Given the description of an element on the screen output the (x, y) to click on. 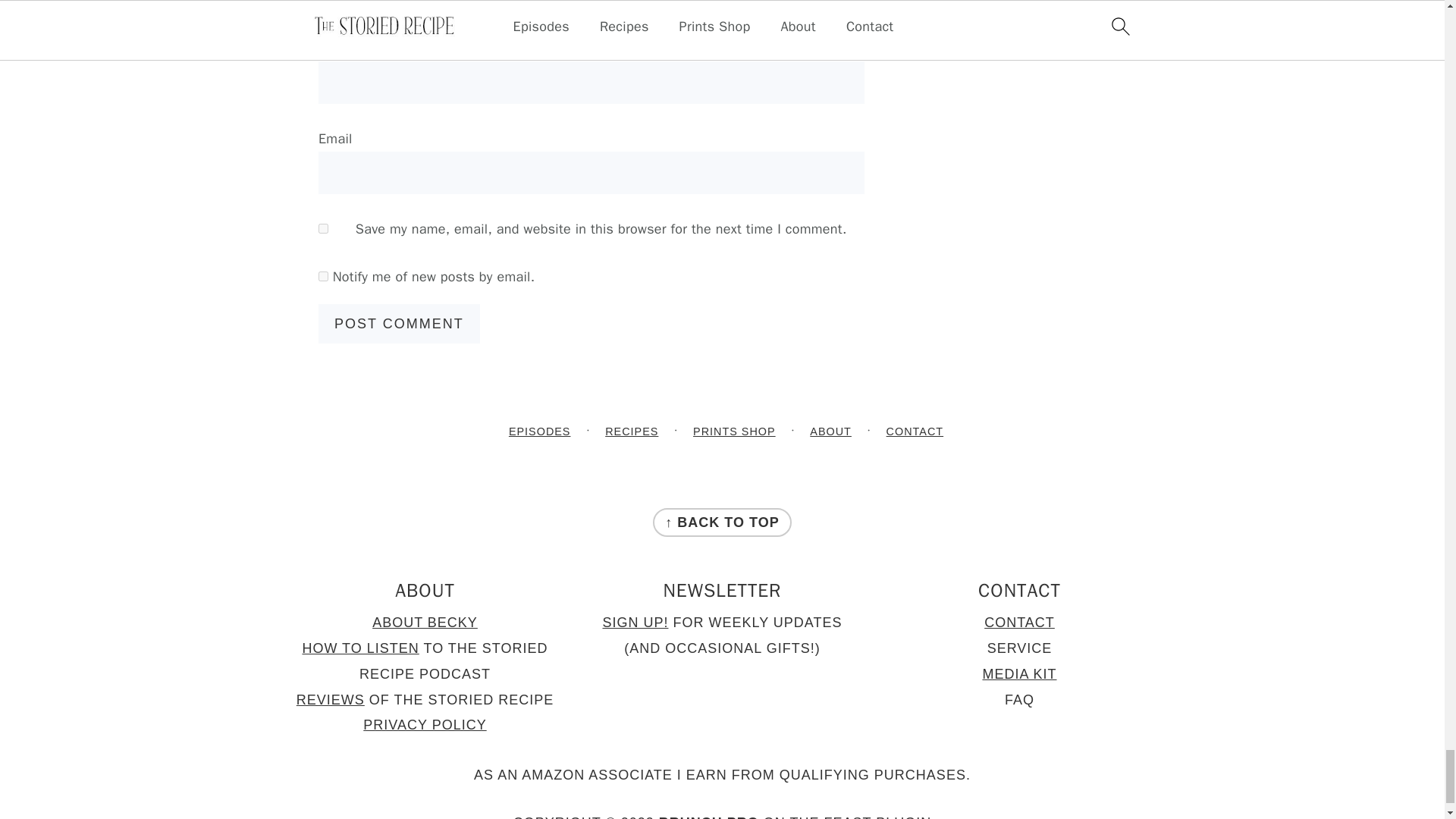
Post Comment (399, 323)
subscribe (323, 276)
yes (323, 228)
